Given the description of an element on the screen output the (x, y) to click on. 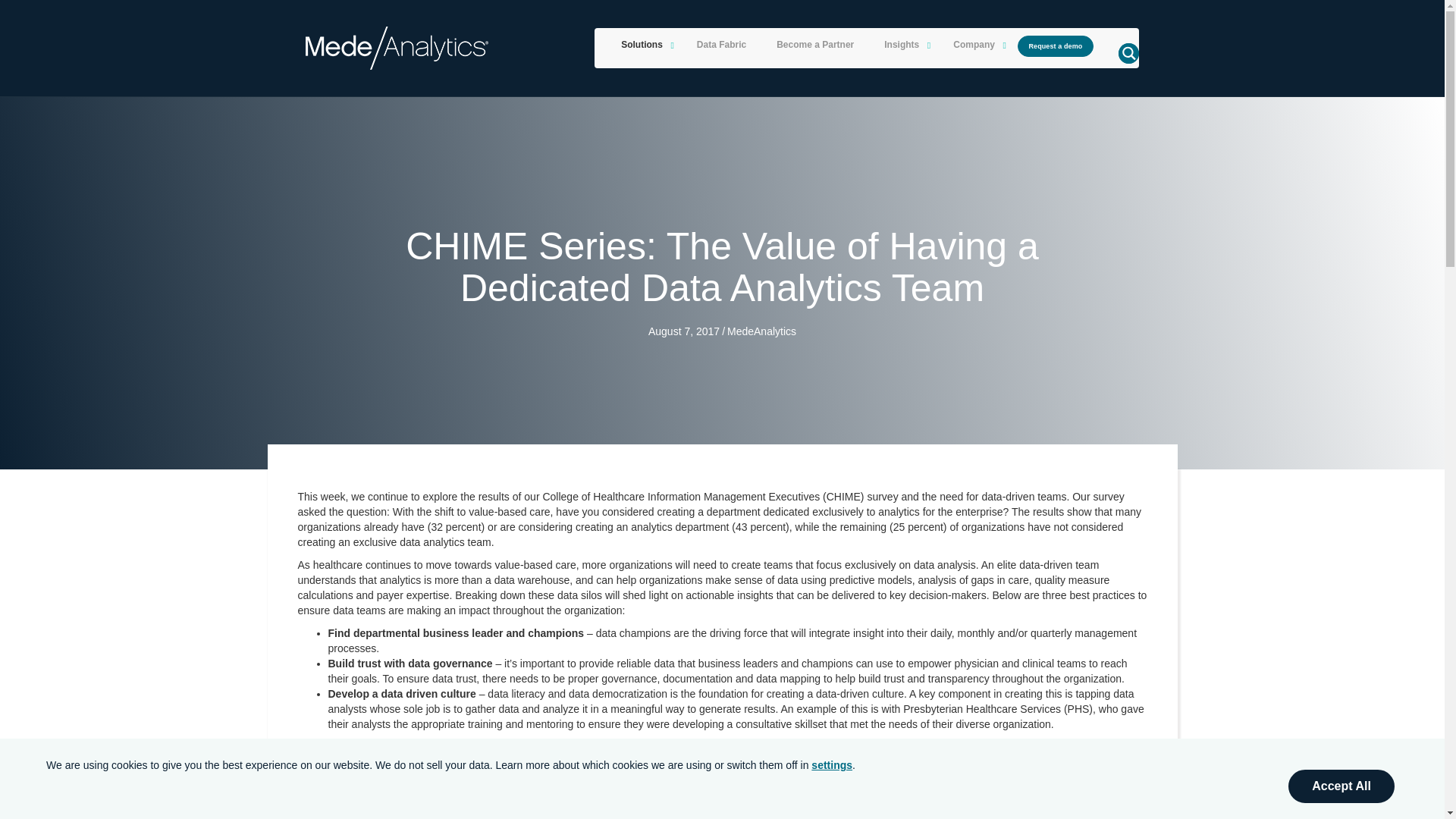
Click Here (1055, 46)
Social-logo-facebook (319, 715)
Data Fabric (721, 45)
Social-logo-linkedin (360, 715)
Become a Partner (815, 45)
Insights (903, 45)
